Given the description of an element on the screen output the (x, y) to click on. 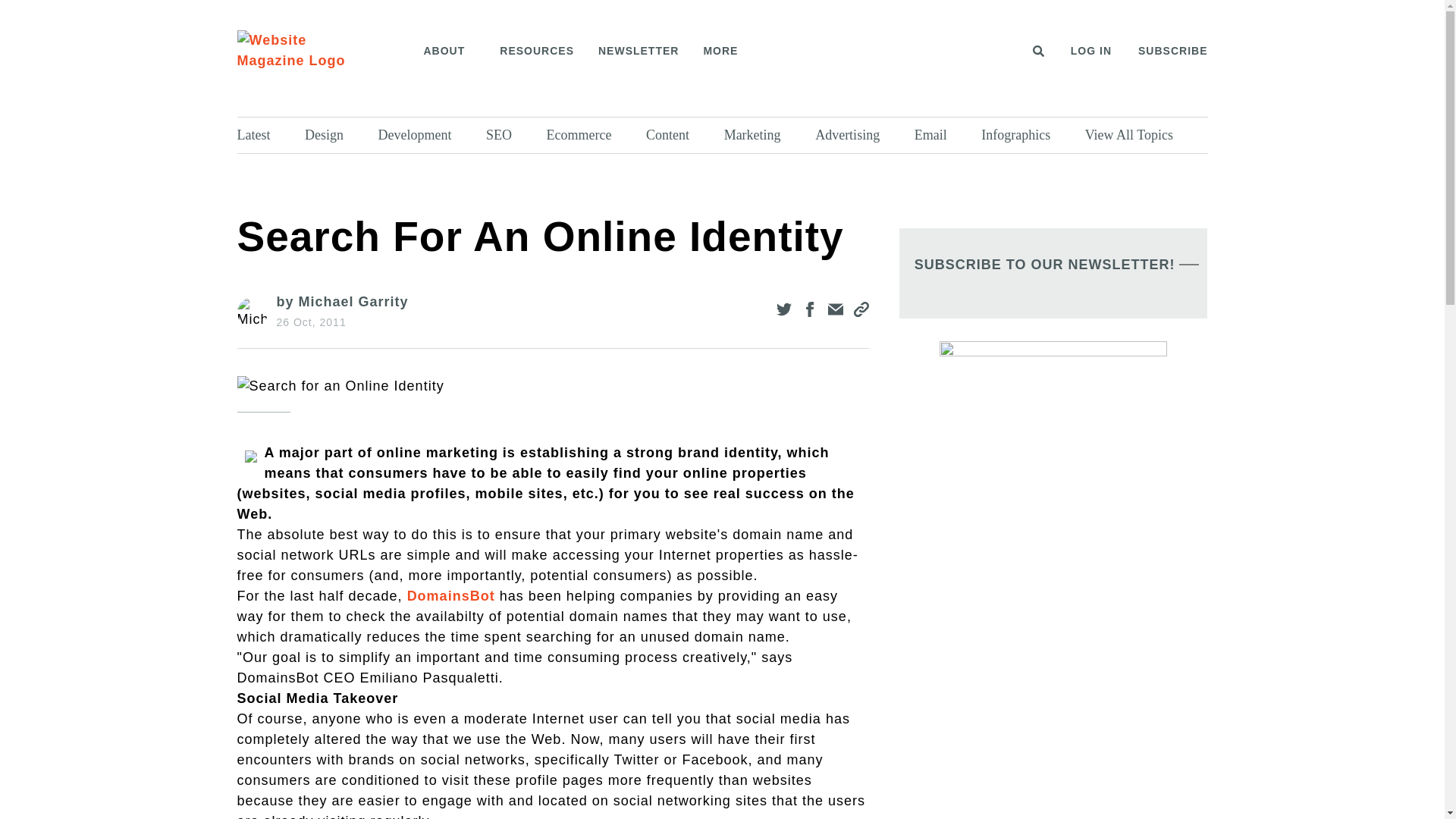
NEWSLETTER (638, 50)
MORE (725, 50)
Infographics (1029, 135)
Ecommerce (593, 135)
DomainsBot (451, 595)
SUBSCRIBE (1172, 50)
ABOUT (449, 50)
View All Topics (1141, 135)
Email (944, 135)
Advertising (861, 135)
